Given the description of an element on the screen output the (x, y) to click on. 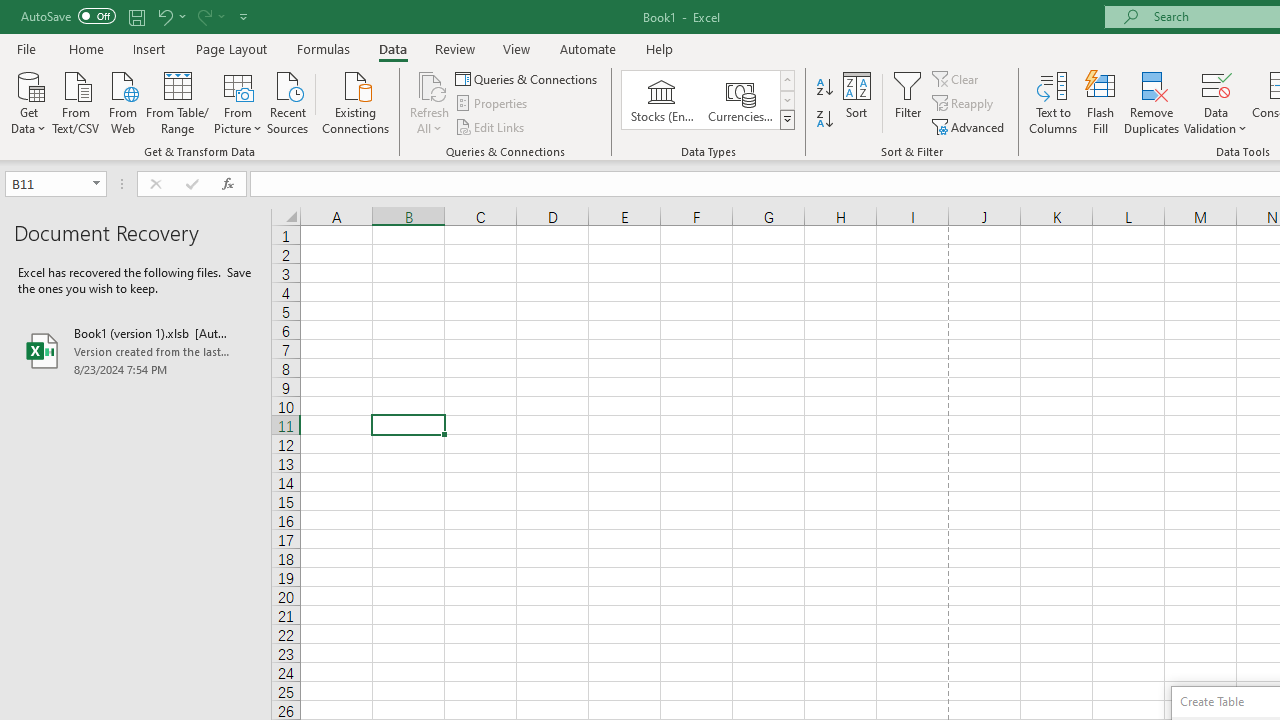
From Picture (238, 101)
